Given the description of an element on the screen output the (x, y) to click on. 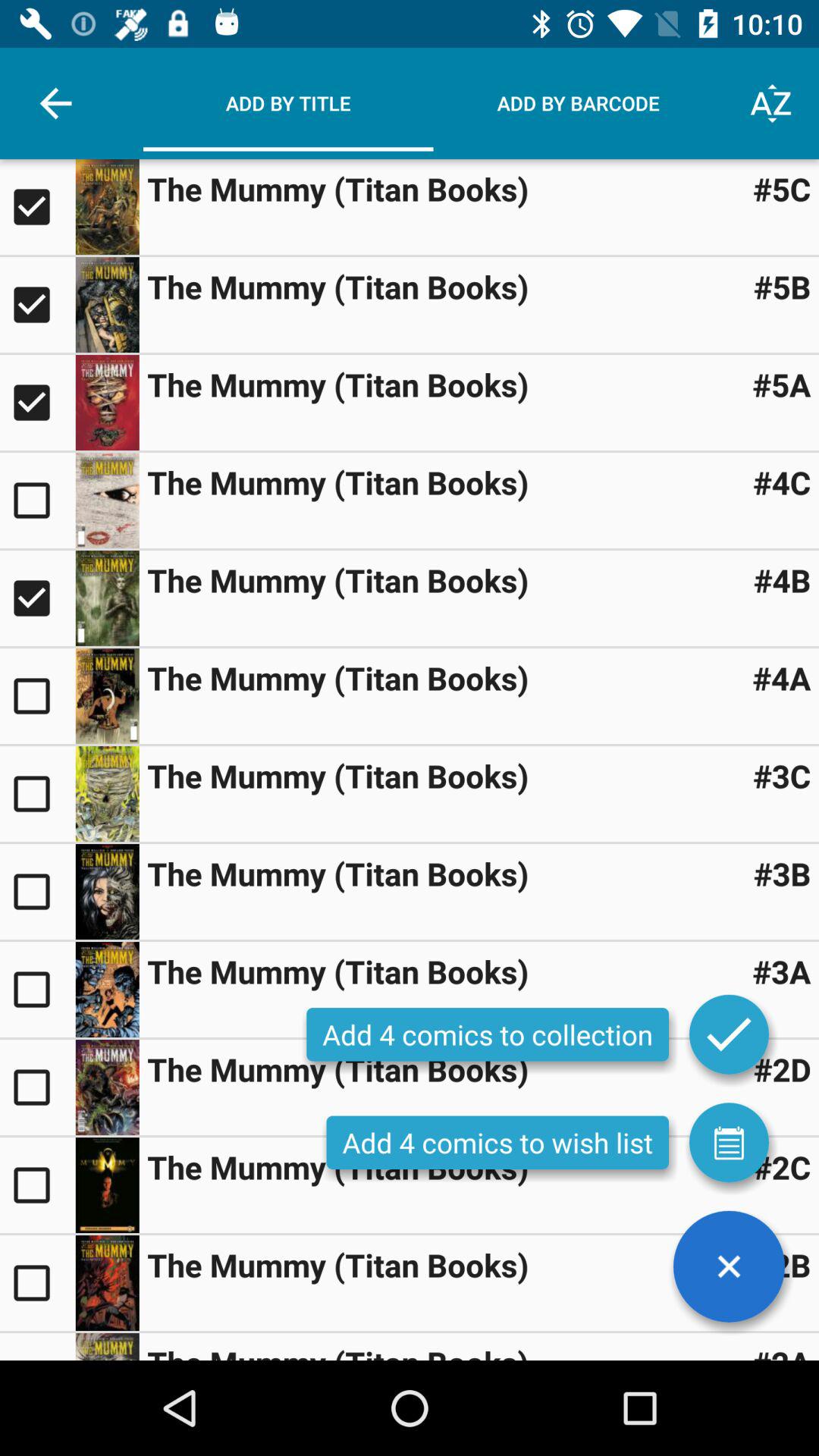
select an item (37, 989)
